Given the description of an element on the screen output the (x, y) to click on. 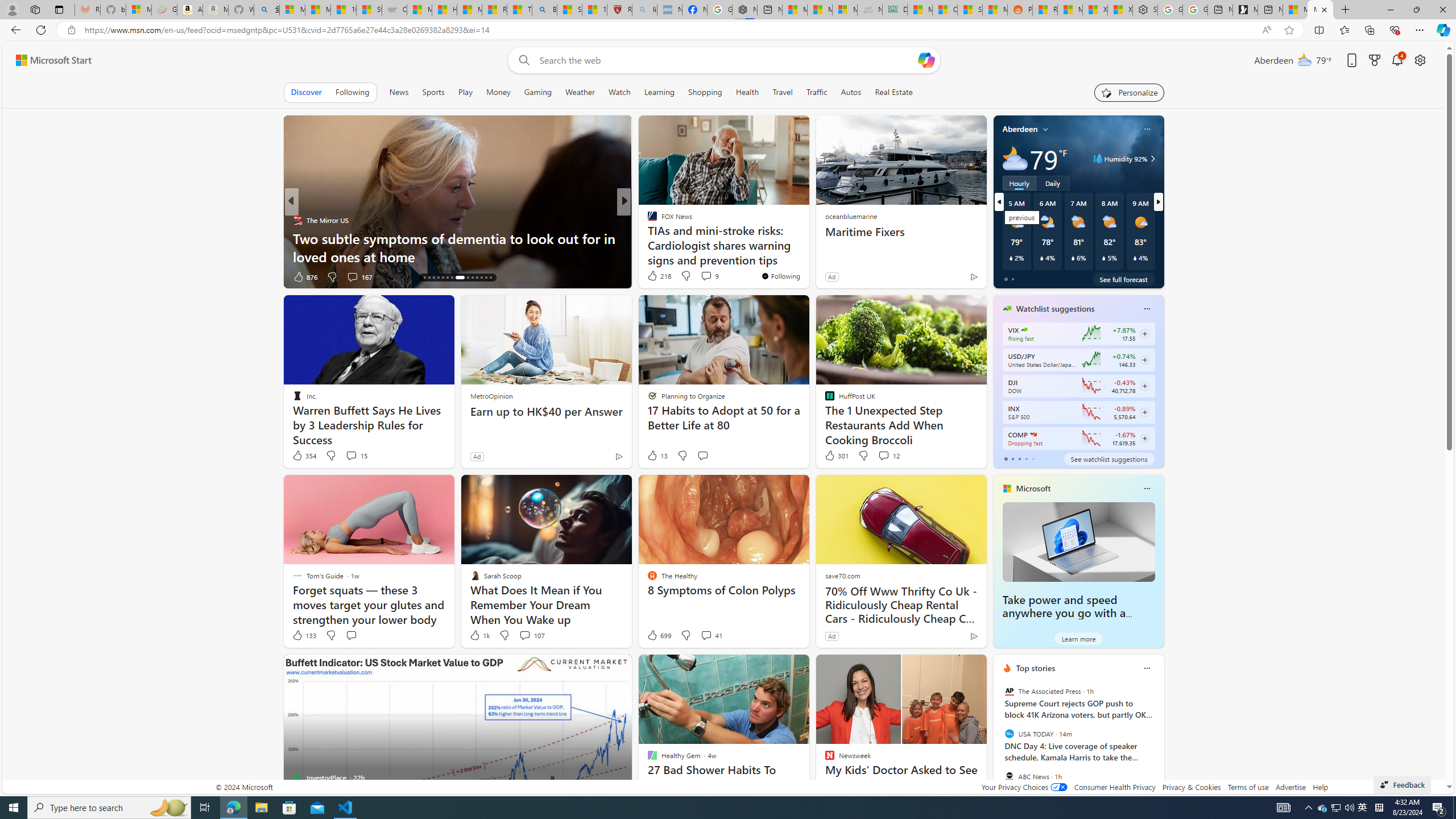
ABC News (1008, 775)
CBOE Market Volatility Index (1023, 329)
View comments 66 Comment (6, 276)
4 Like (651, 276)
Real Estate (893, 92)
USA TODAY (1008, 733)
View comments 107 Comment (530, 634)
